Given the description of an element on the screen output the (x, y) to click on. 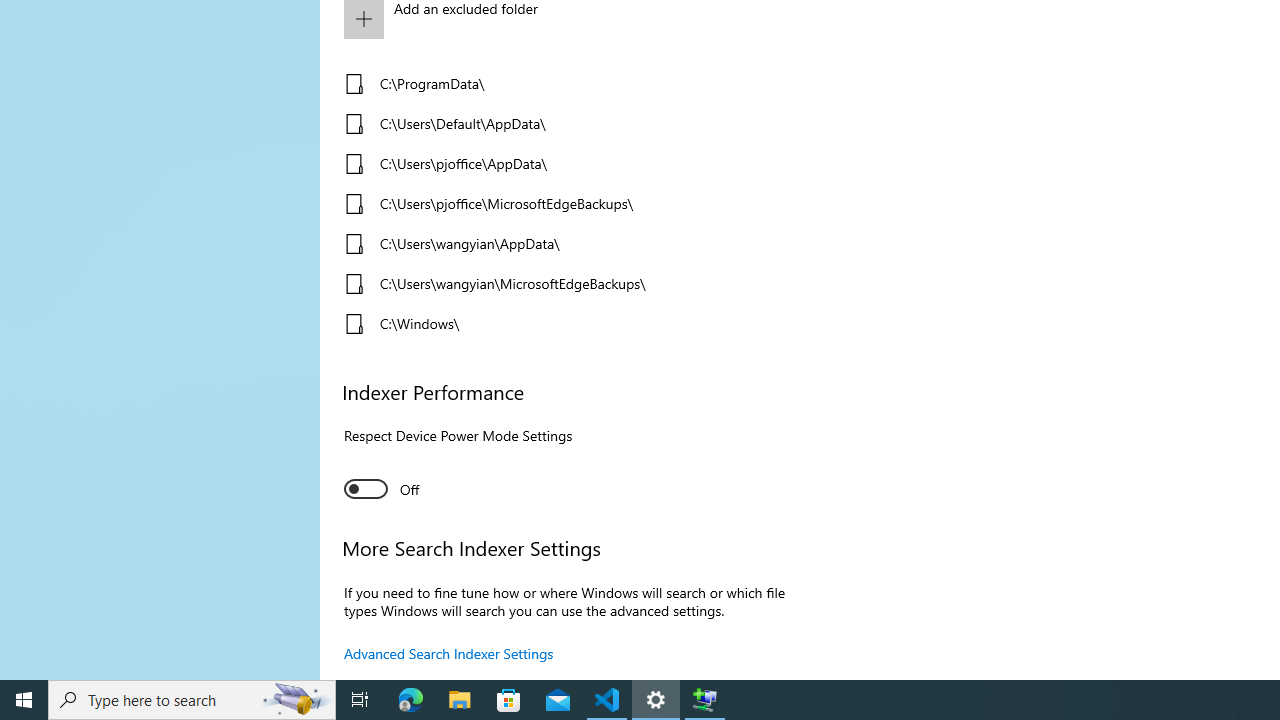
Task View (359, 699)
C:\ProgramData\ (563, 83)
Extensible Wizards Host Process - 1 running window (704, 699)
C:\Users\wangyian\AppData\ (563, 243)
Advanced Search Indexer Settings (449, 653)
